Given the description of an element on the screen output the (x, y) to click on. 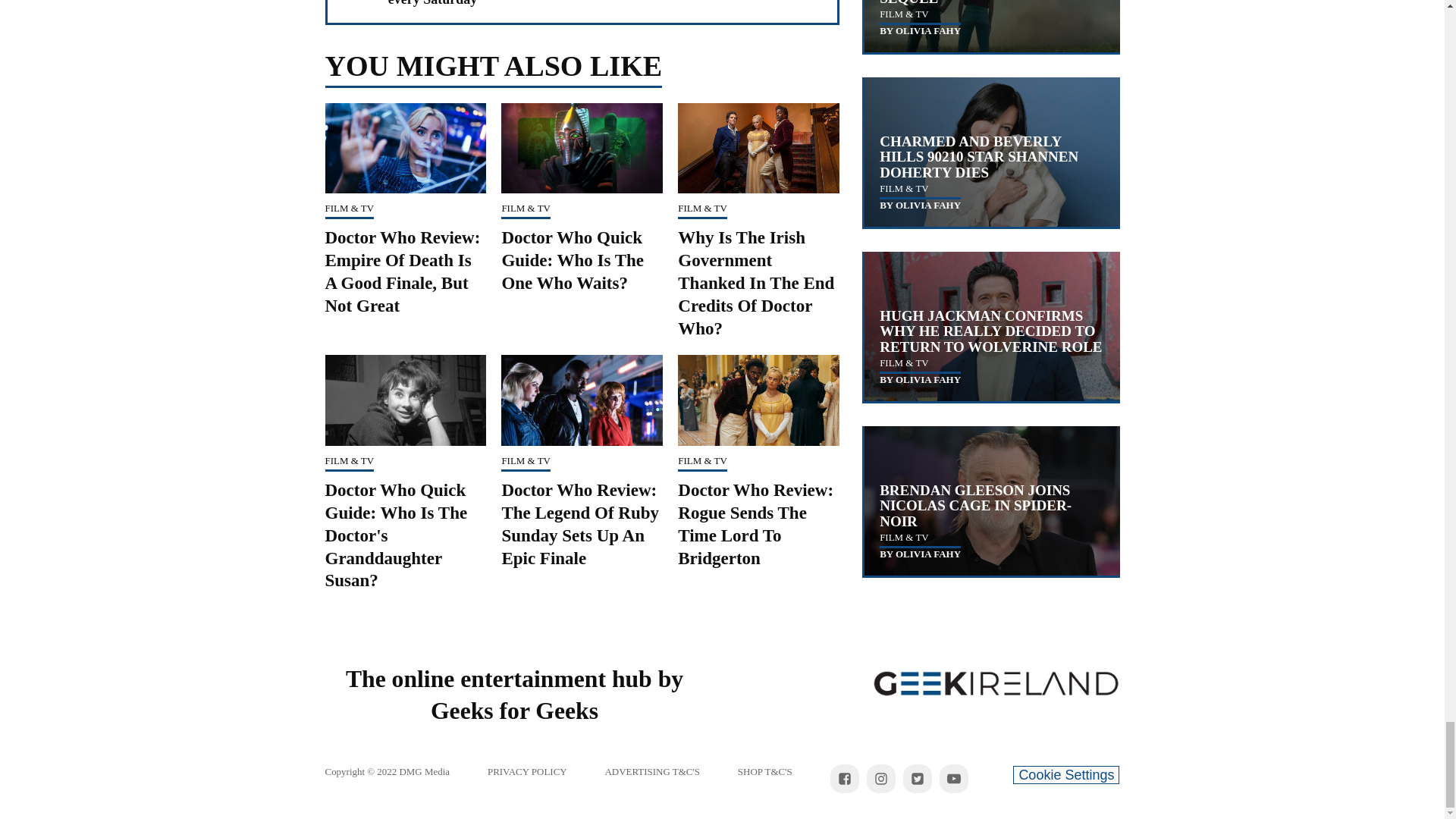
Doctor Who Quick Guide: Who Is The One Who Waits? (571, 260)
Doctor Who Review: Rogue Sends The Time Lord To Bridgerton (755, 524)
